Given the description of an element on the screen output the (x, y) to click on. 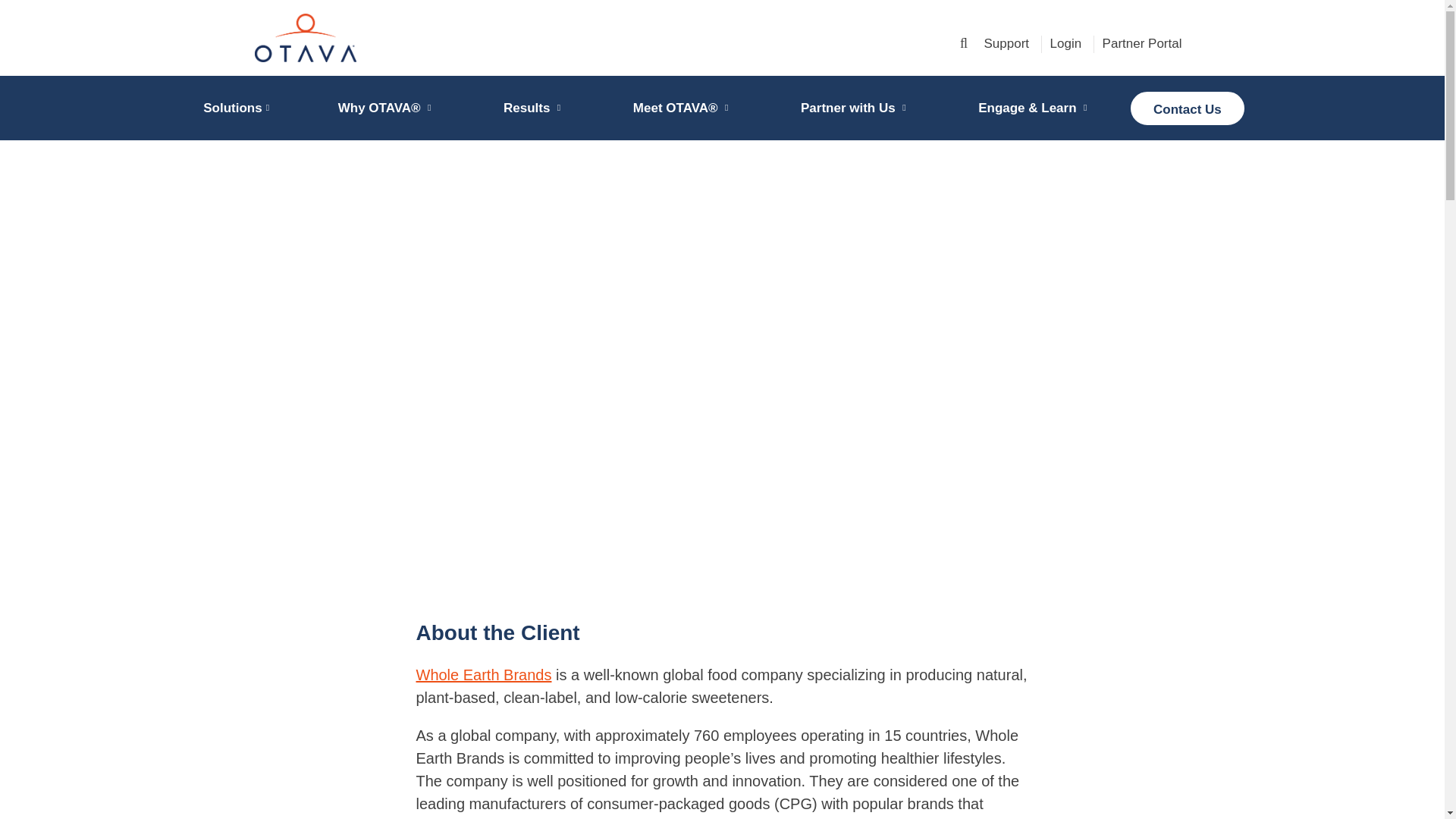
Support (1006, 43)
Login (1065, 43)
Solutions (232, 108)
mainlogo (402, 37)
Partner Portal (1142, 43)
